Given the description of an element on the screen output the (x, y) to click on. 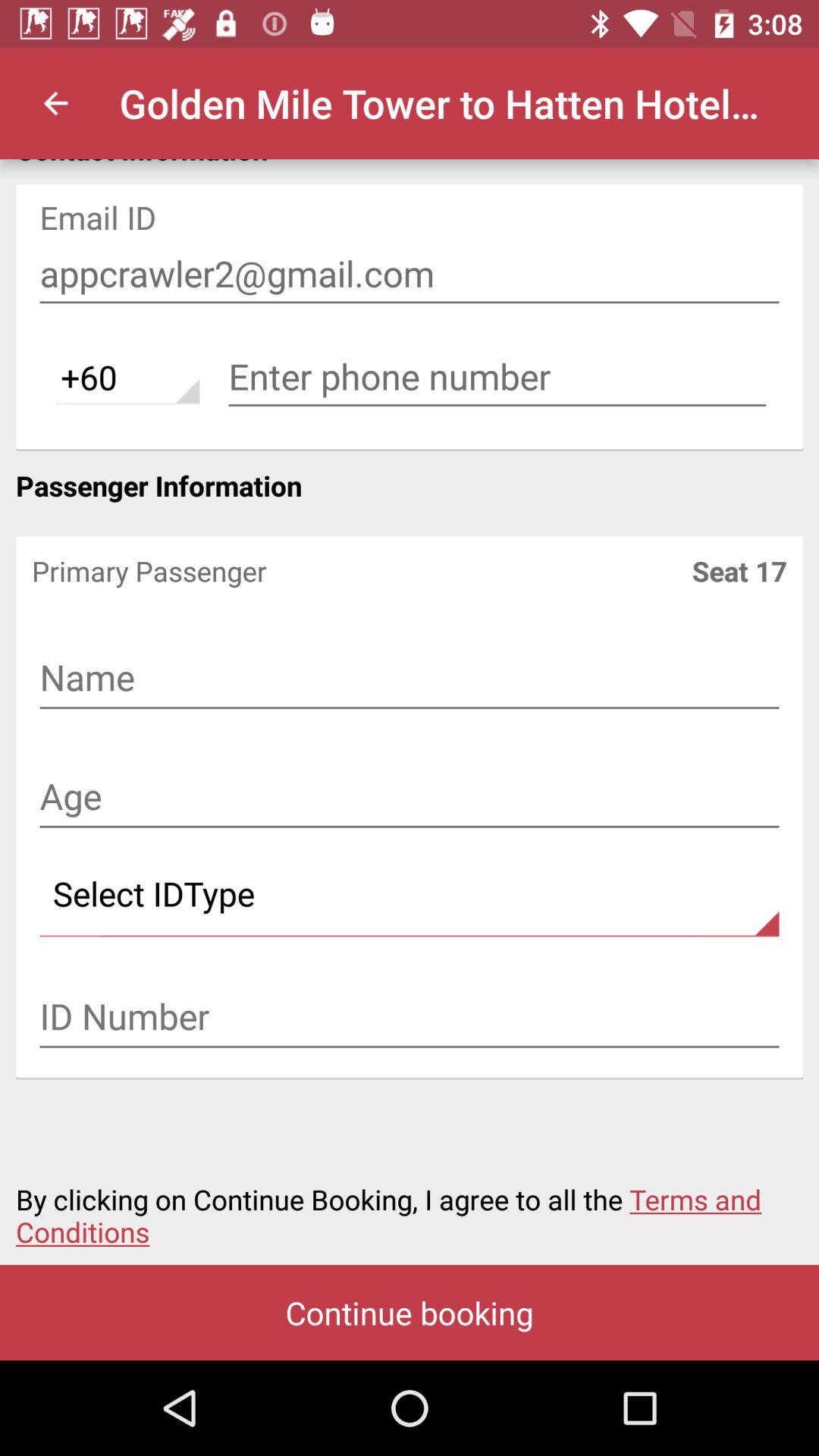
flip until the appcrawler2@gmail.com item (409, 274)
